Given the description of an element on the screen output the (x, y) to click on. 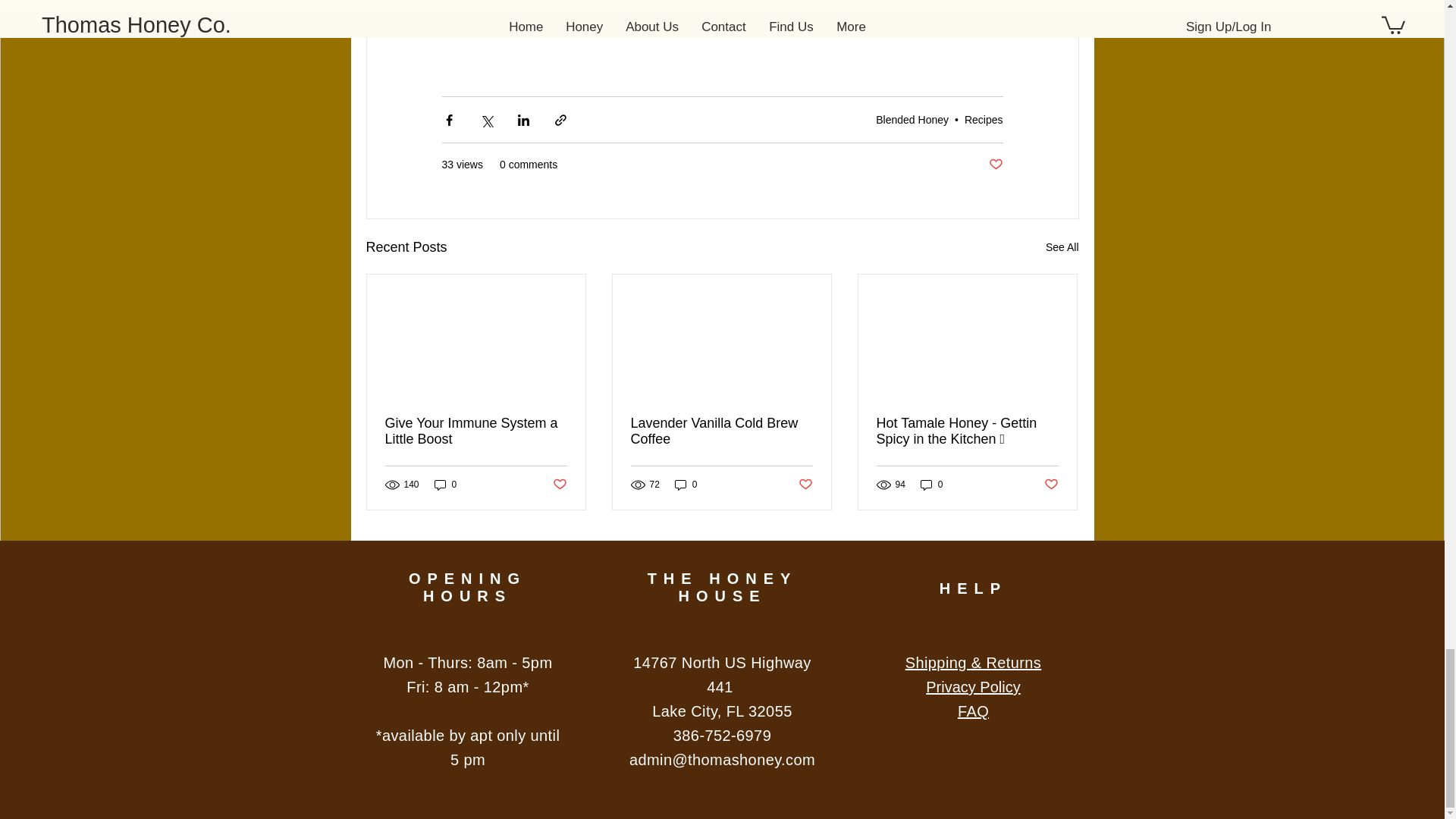
Give Your Immune System a Little Boost (476, 431)
Recipes (983, 119)
See All (1061, 247)
0 (445, 484)
Blended Honey (912, 119)
Post not marked as liked (995, 164)
